Given the description of an element on the screen output the (x, y) to click on. 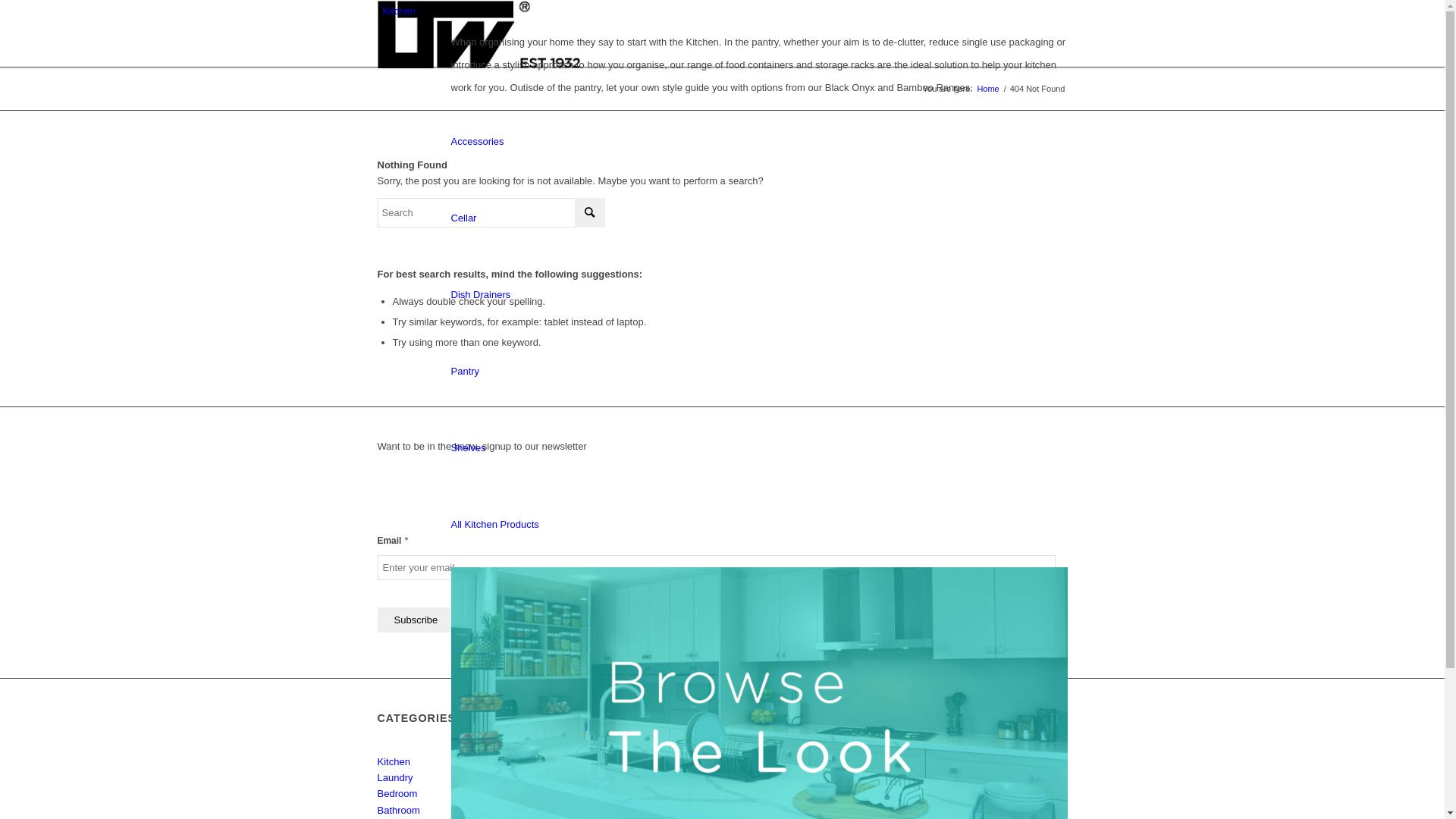
Bedroom Element type: text (397, 793)
Pantry Element type: text (464, 370)
Kitchen Element type: text (398, 10)
Just Arrived Element type: text (585, 793)
All Kitchen Products Element type: text (494, 524)
Laundry Element type: text (395, 777)
Shelves Element type: text (467, 447)
Subscribe Element type: text (416, 619)
Dish Drainers Element type: text (480, 294)
Bathroom Element type: text (398, 809)
logo_03 Element type: hover (478, 34)
Accessories Element type: text (476, 141)
Kitchen Element type: text (393, 760)
Home Element type: text (987, 88)
About Element type: text (573, 760)
Featured Products Element type: text (600, 777)
Cellar Element type: text (463, 217)
